Given the description of an element on the screen output the (x, y) to click on. 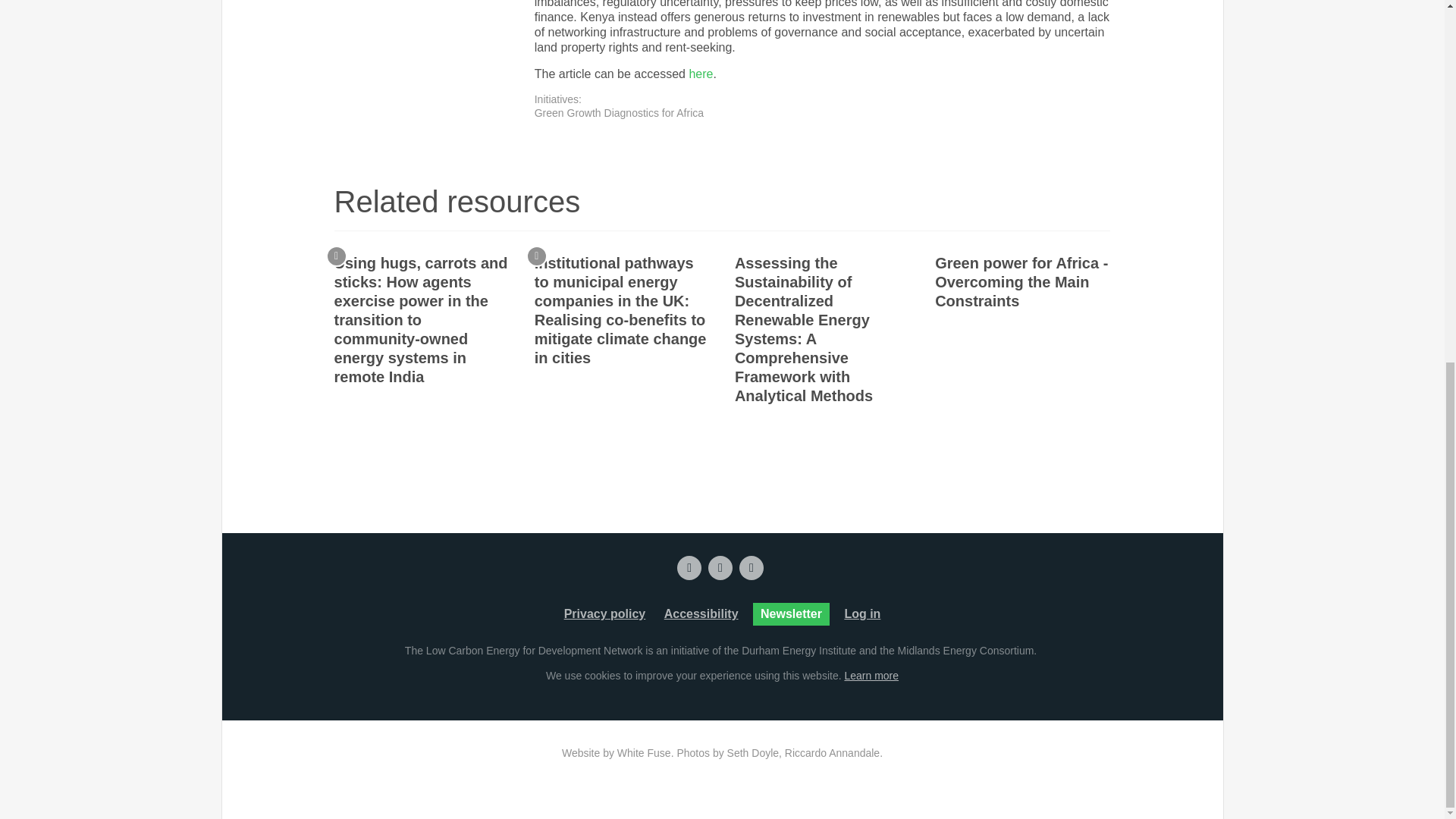
Newsletter (790, 613)
Twitter (689, 567)
Facebook (750, 567)
Green power for Africa - Overcoming the Main Constraints (1021, 282)
here (700, 73)
Accessibility (701, 613)
Pinterest (719, 567)
